Given the description of an element on the screen output the (x, y) to click on. 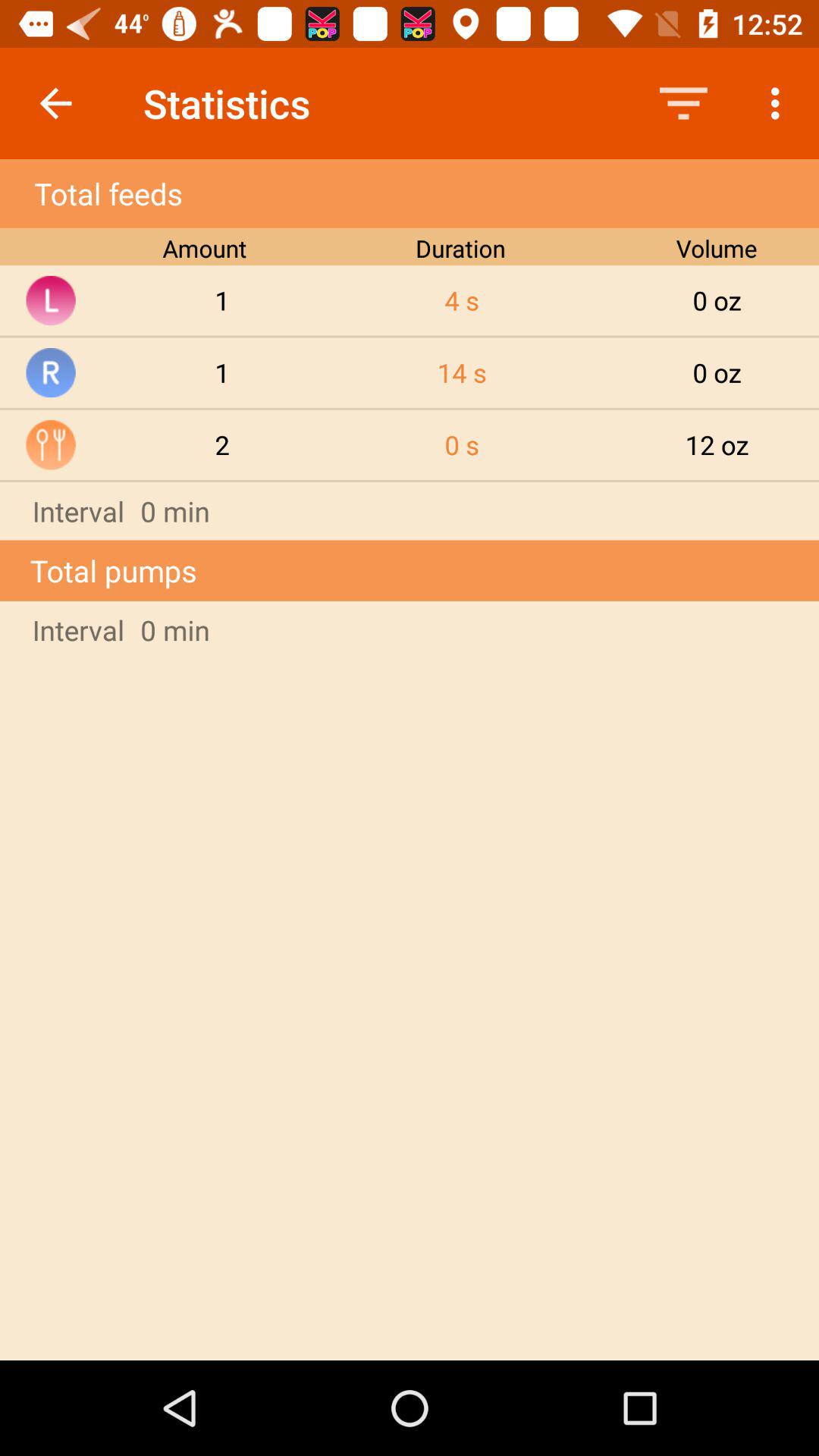
select icon next to the 14 s icon (221, 445)
